Given the description of an element on the screen output the (x, y) to click on. 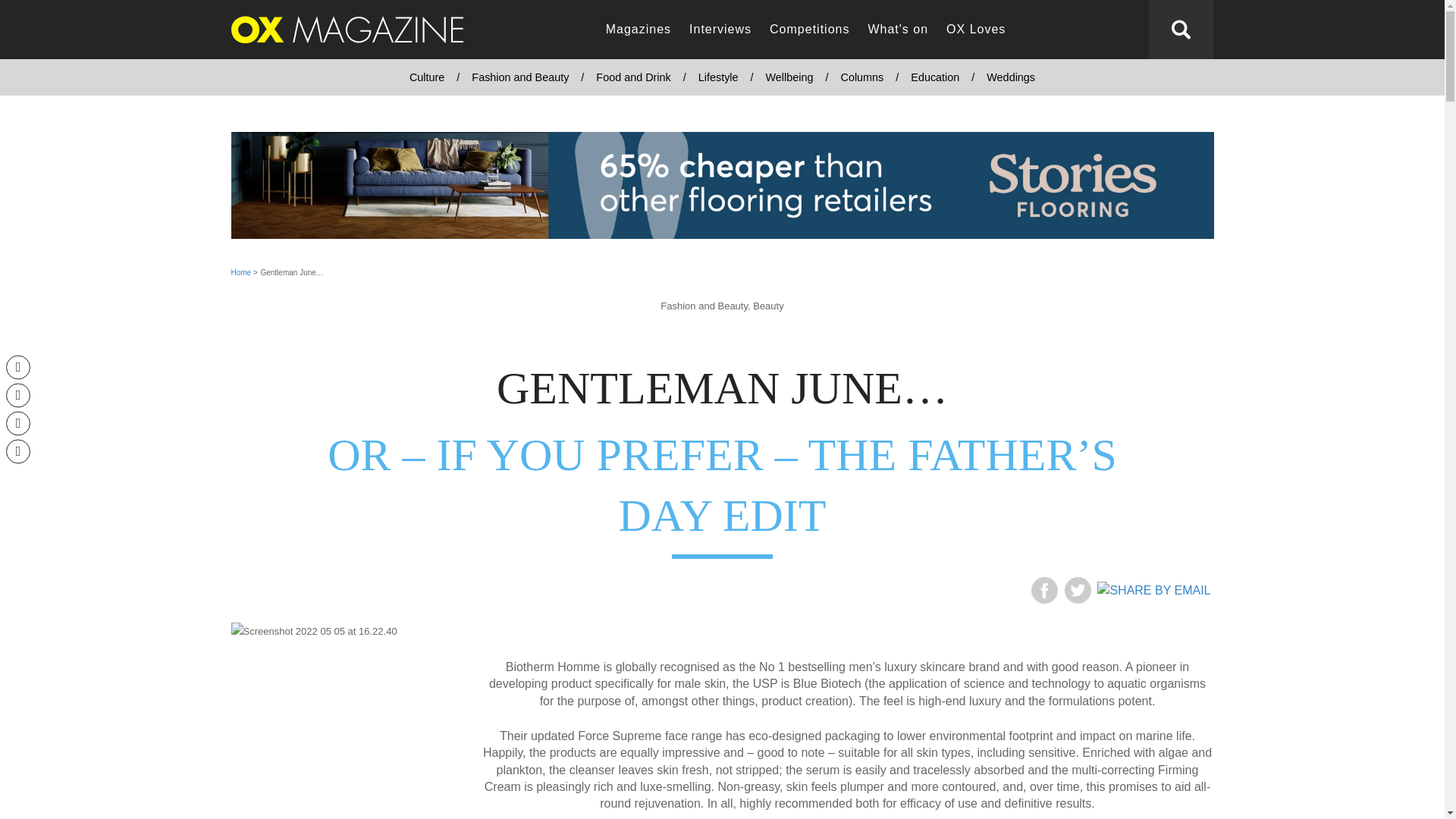
Competitions (809, 29)
Weddings (1010, 77)
Interviews (719, 29)
Home (240, 272)
Education (934, 77)
Wellbeing (789, 77)
Columns (861, 77)
Culture (427, 77)
Fashion and Beauty (520, 77)
Food and Drink (632, 77)
